Given the description of an element on the screen output the (x, y) to click on. 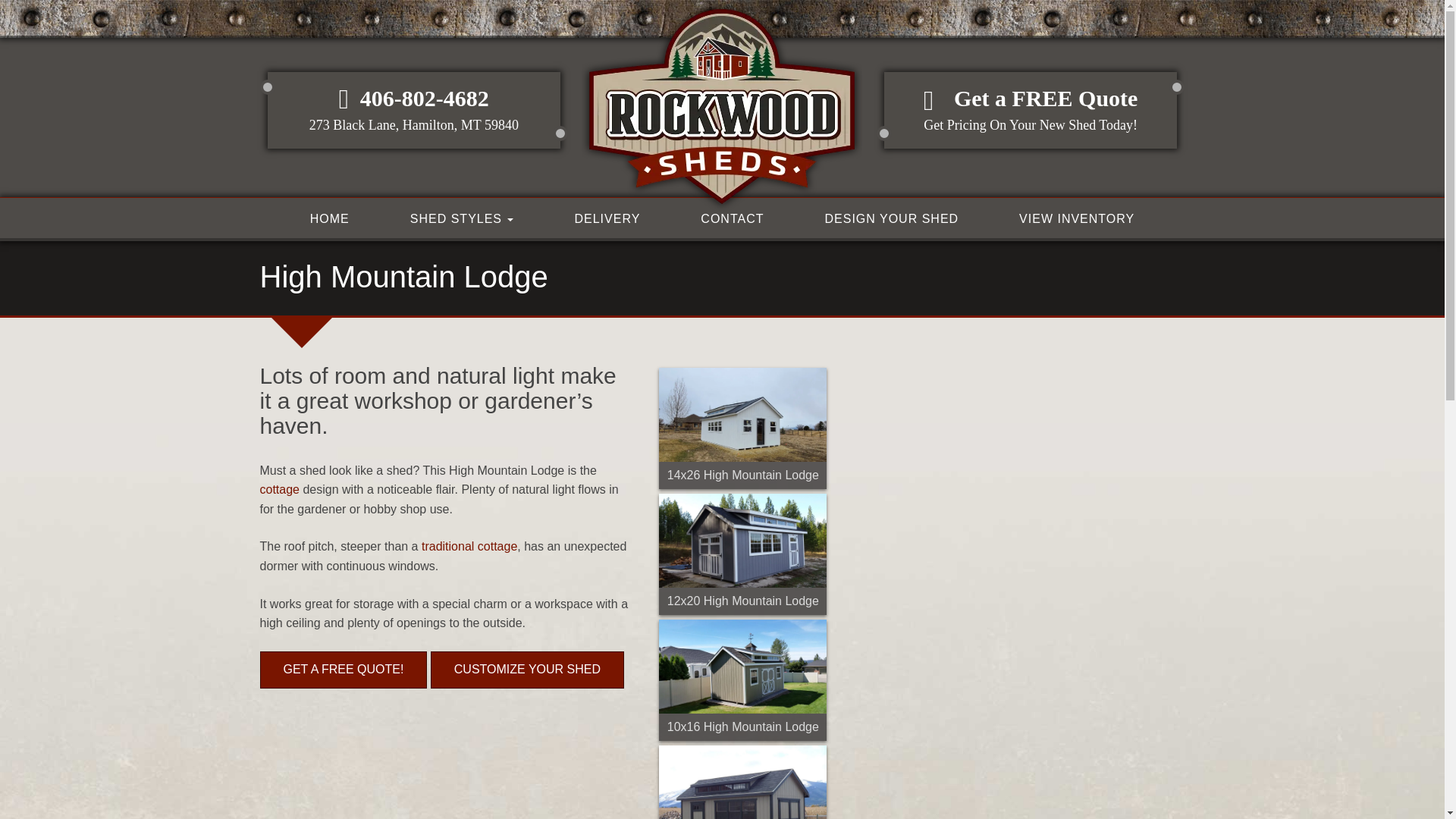
cottage (278, 489)
GET A FREE QUOTE! (342, 670)
Design Your Shed (890, 218)
12x20 High Mountain Lodge (743, 554)
CUSTOMIZE YOUR SHED (527, 670)
10x20 High Mountain Lodge (743, 782)
Contact (731, 218)
View Inventory (1076, 218)
HOME (329, 218)
CONTACT (731, 218)
